Given the description of an element on the screen output the (x, y) to click on. 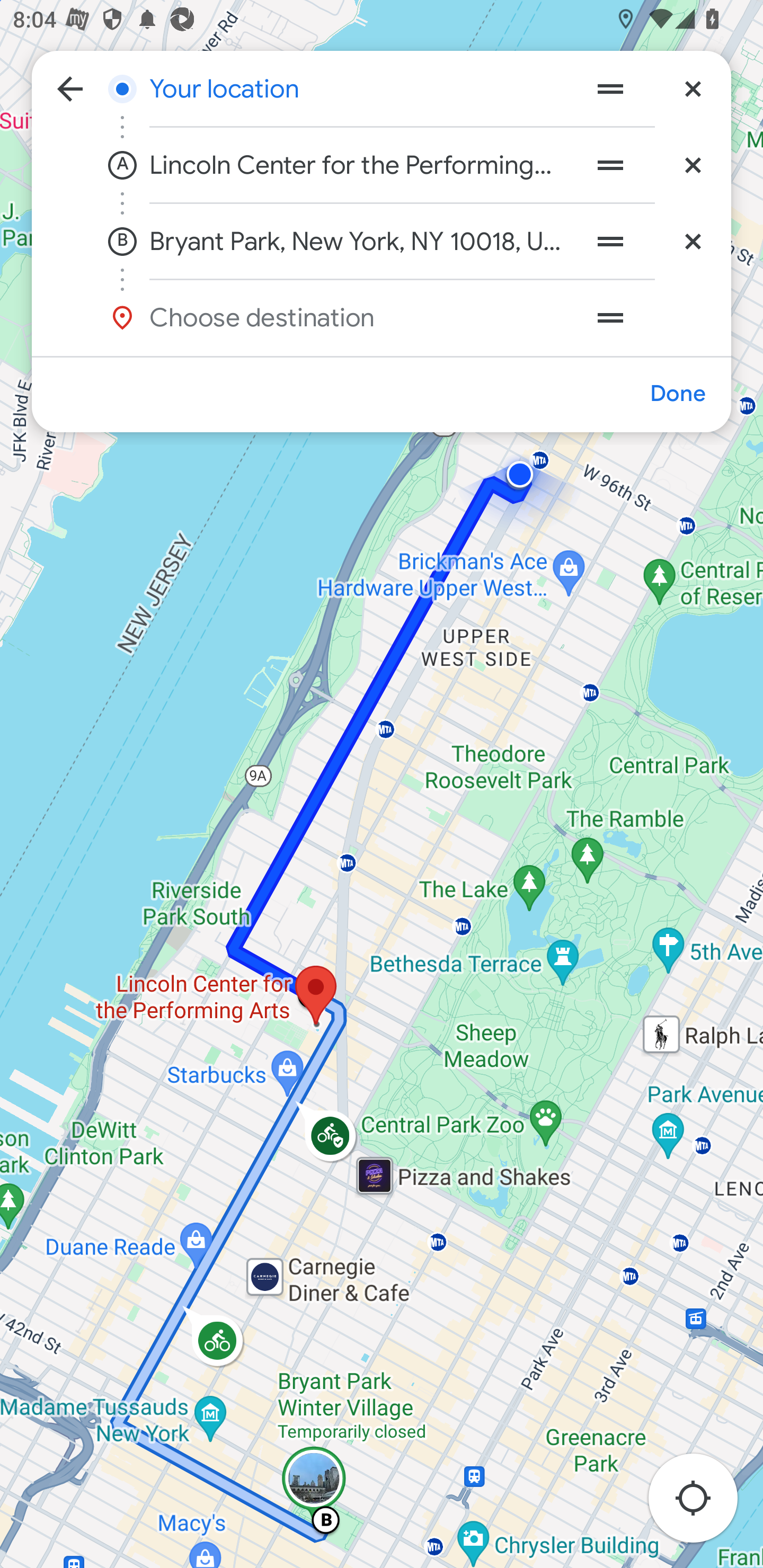
Navigate up (70, 88)
Drag waypoint Your location (610, 88)
Remove waypoint Your location (692, 88)
Drag waypoint Choose destination (648, 317)
Done (676, 393)
Re-center map to your location (702, 1503)
